Given the description of an element on the screen output the (x, y) to click on. 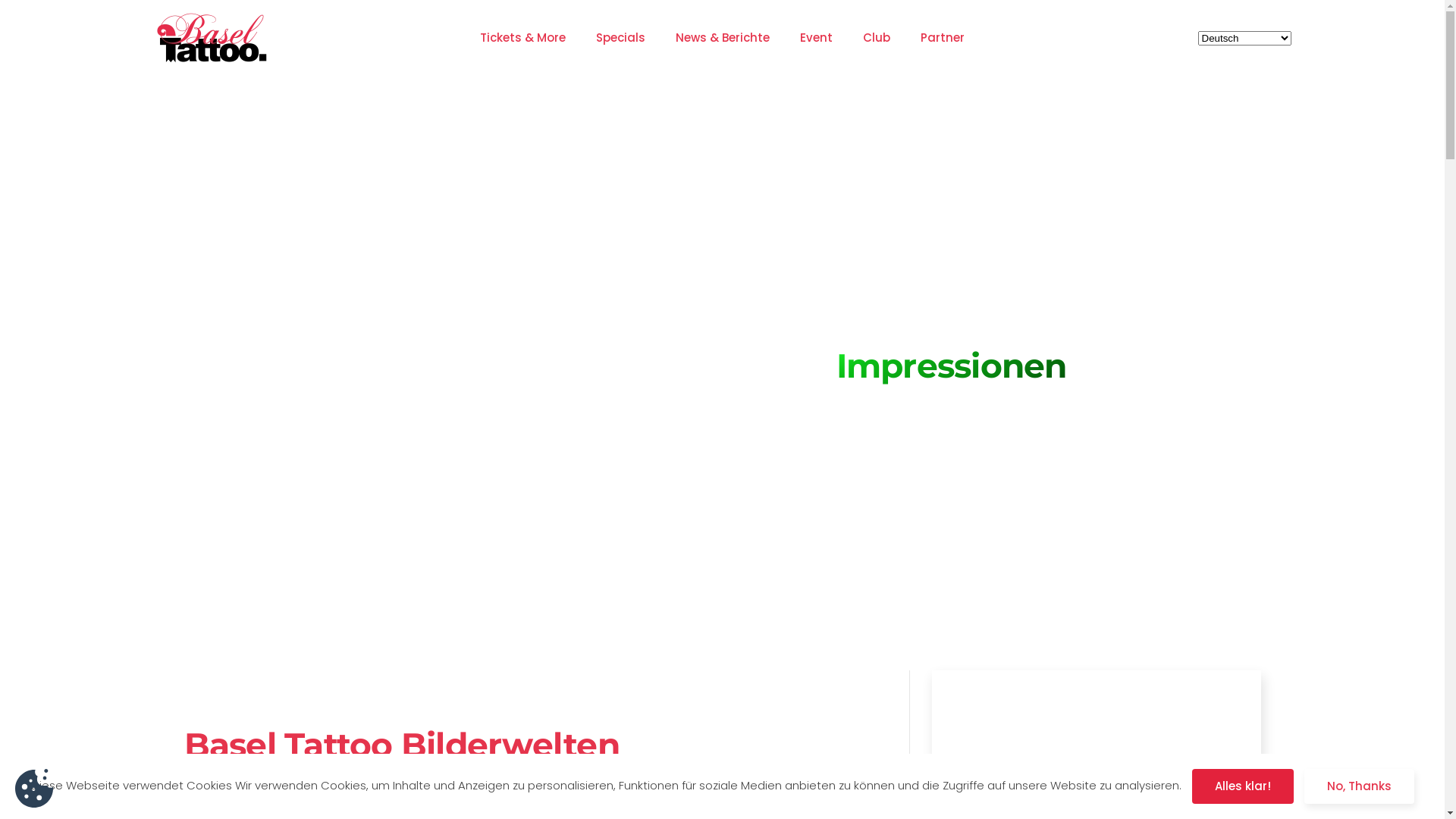
Specials Element type: text (620, 37)
Partner Element type: text (942, 37)
No, Thanks Element type: text (1359, 785)
Club Element type: text (876, 37)
Event Element type: text (816, 37)
Tickets & More Element type: text (522, 37)
Alles klar! Element type: text (1242, 785)
News & Berichte Element type: text (722, 37)
